Given the description of an element on the screen output the (x, y) to click on. 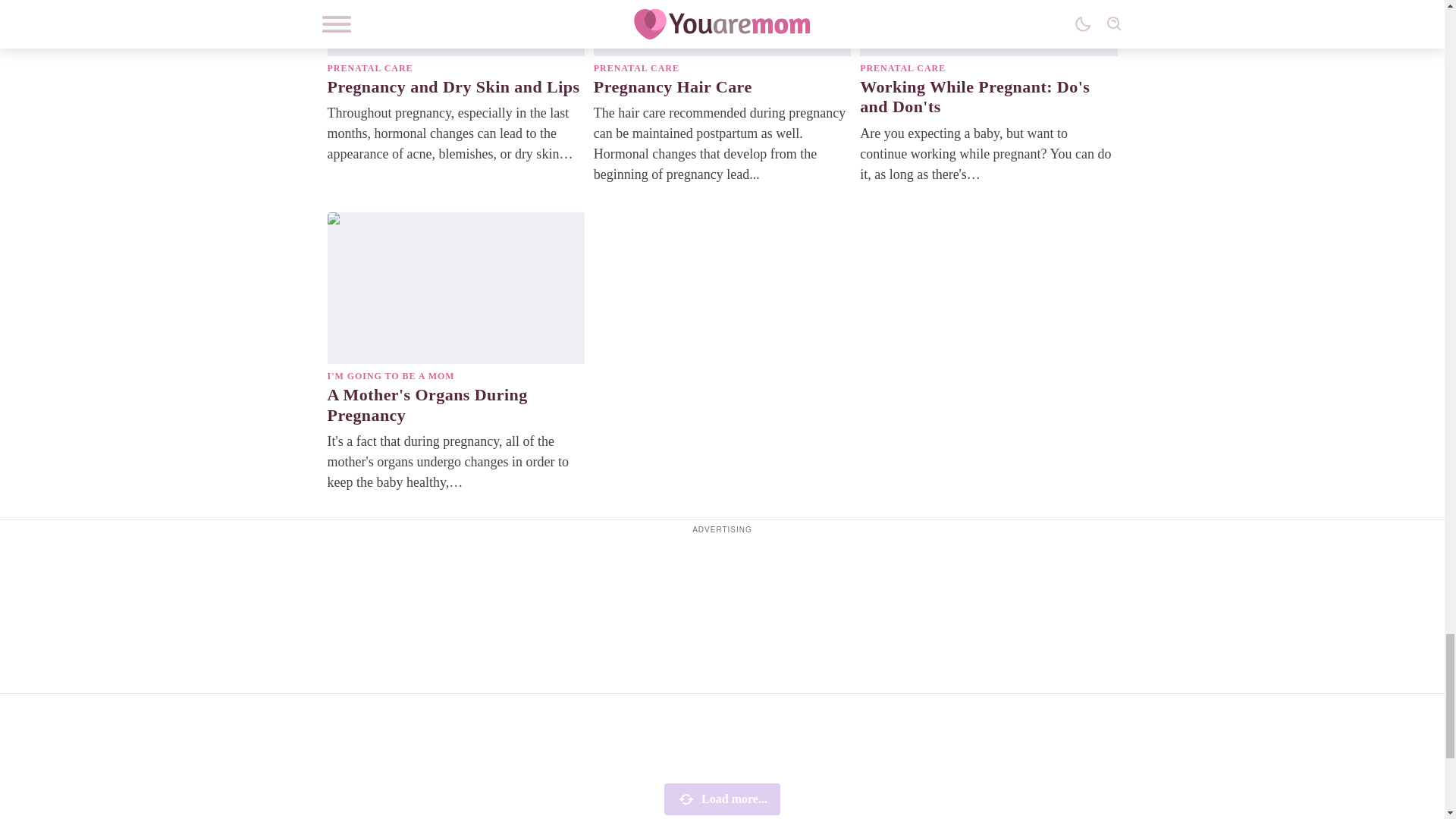
Load more... (721, 798)
